Given the description of an element on the screen output the (x, y) to click on. 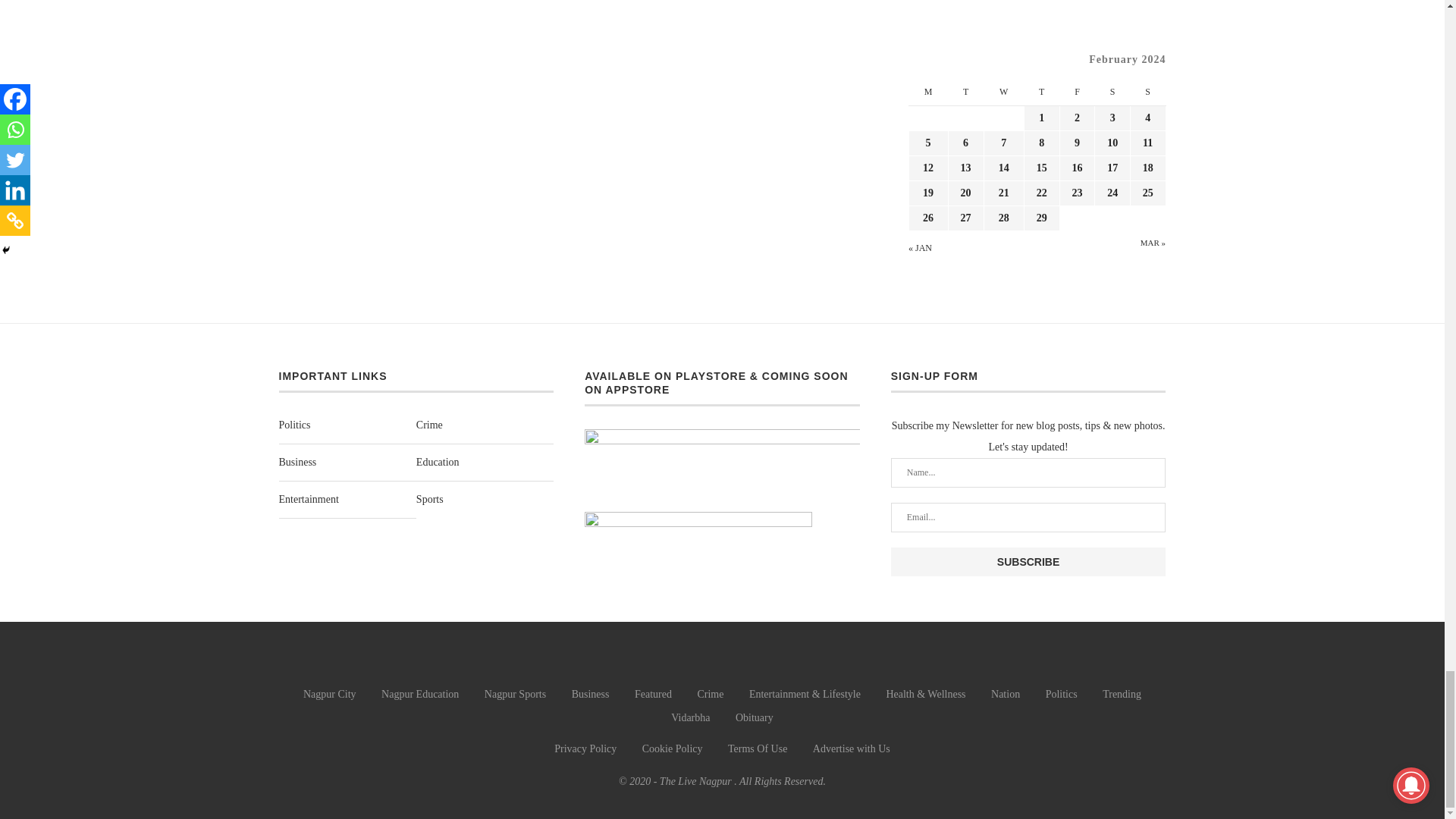
Subscribe (1028, 561)
